Given the description of an element on the screen output the (x, y) to click on. 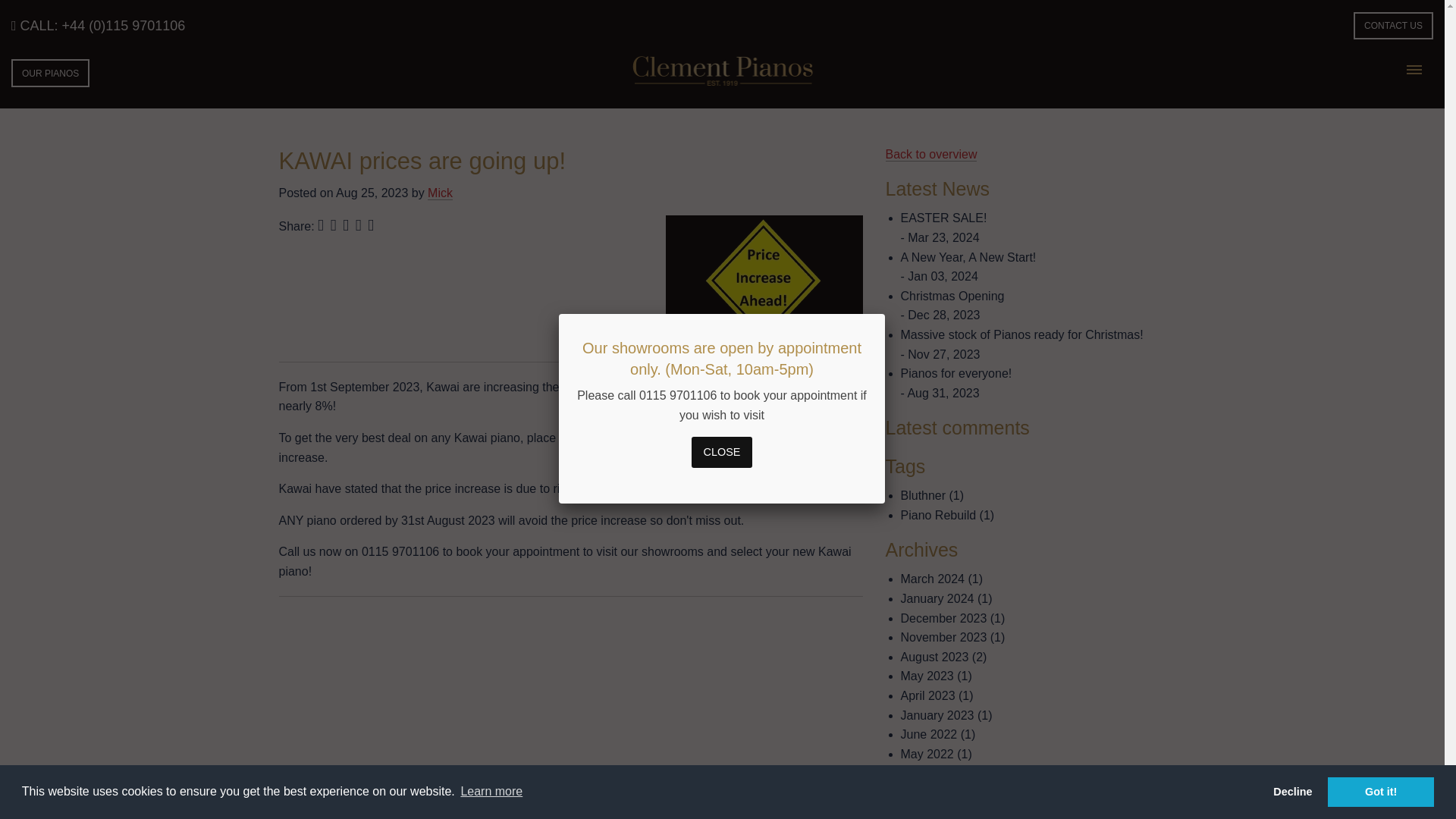
June 2022 (929, 734)
April 2023 (928, 695)
January 2024 (937, 598)
November 2023 (944, 636)
August 2023 (935, 656)
Piano Makers (483, 815)
Clement Pianos (319, 815)
December 2023 (944, 617)
About Clement Pianos (366, 815)
Upright Pianos (679, 815)
Decline (1292, 791)
Learn more (491, 791)
Got it! (1380, 791)
Grand Pianos (579, 815)
March 2024 (933, 578)
